Given the description of an element on the screen output the (x, y) to click on. 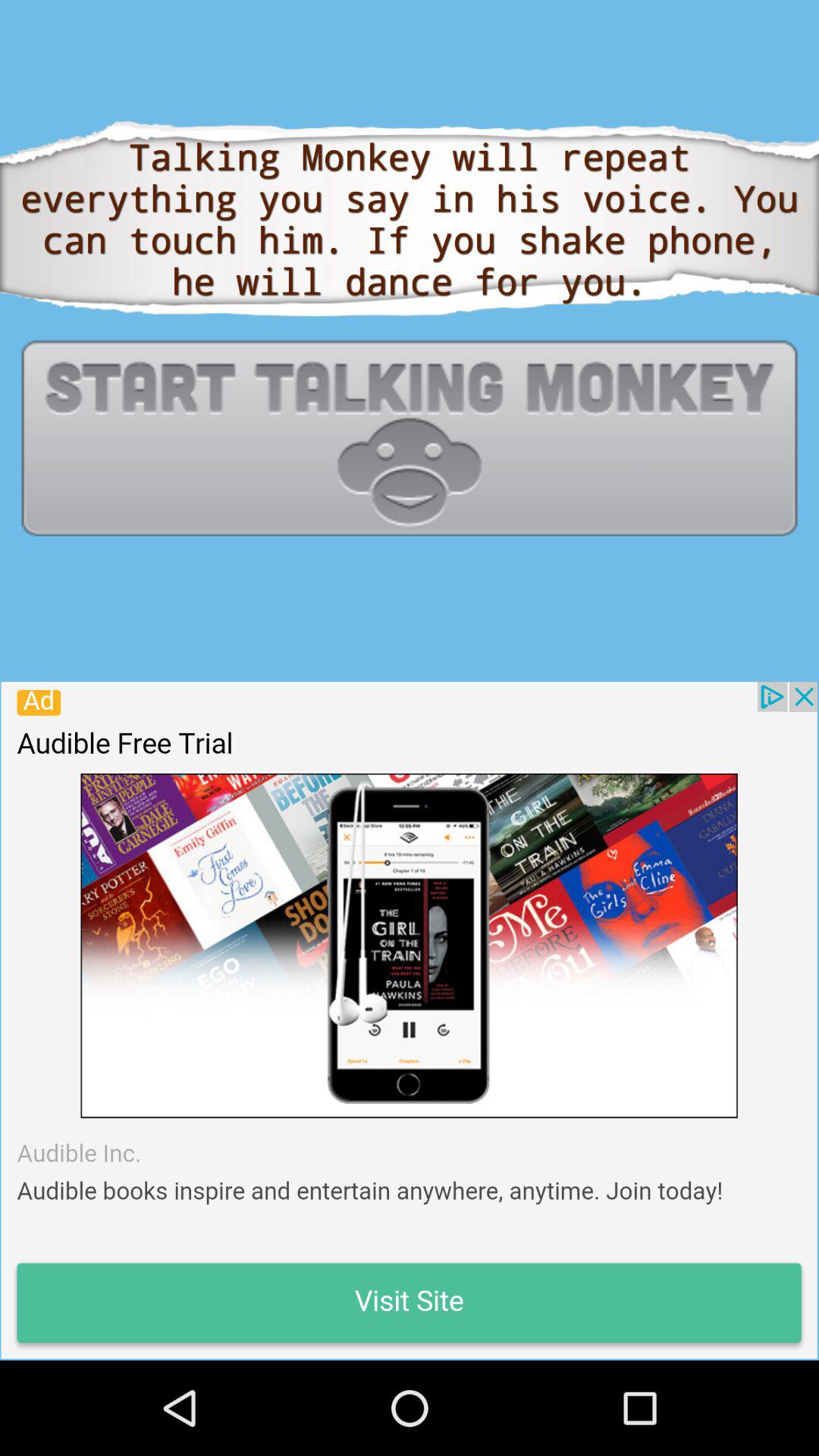
sponsored advertisement (409, 1019)
